Given the description of an element on the screen output the (x, y) to click on. 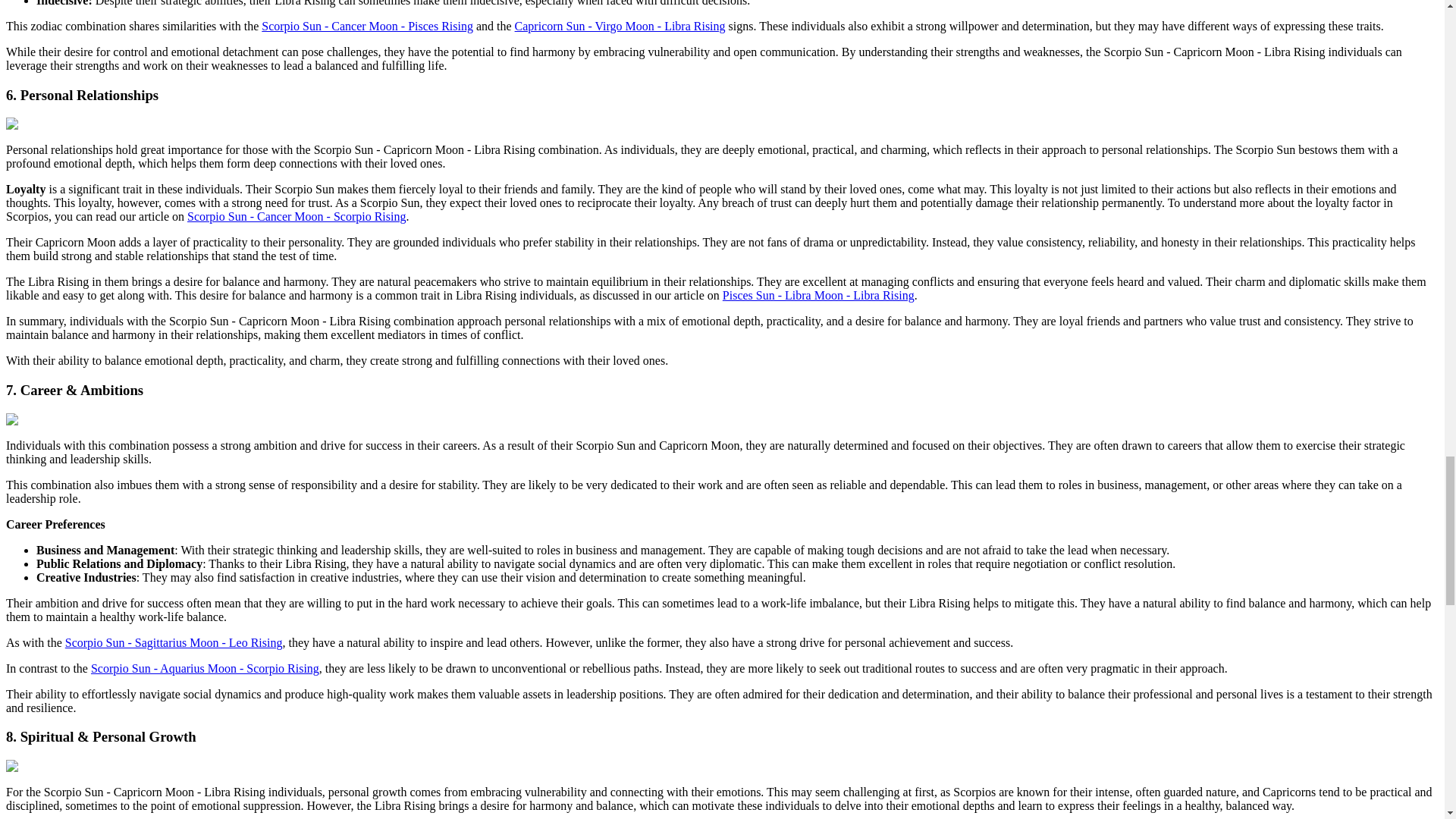
Scorpio Sun - Cancer Moon - Pisces Rising (367, 25)
Capricorn Sun - Virgo Moon - Libra Rising (620, 25)
Scorpio Sun - Cancer Moon - Scorpio Rising (296, 215)
Scorpio Sun - Sagittarius Moon - Leo Rising (173, 642)
Scorpio Sun - Aquarius Moon - Scorpio Rising (204, 667)
Pisces Sun - Libra Moon - Libra Rising (818, 295)
